Given the description of an element on the screen output the (x, y) to click on. 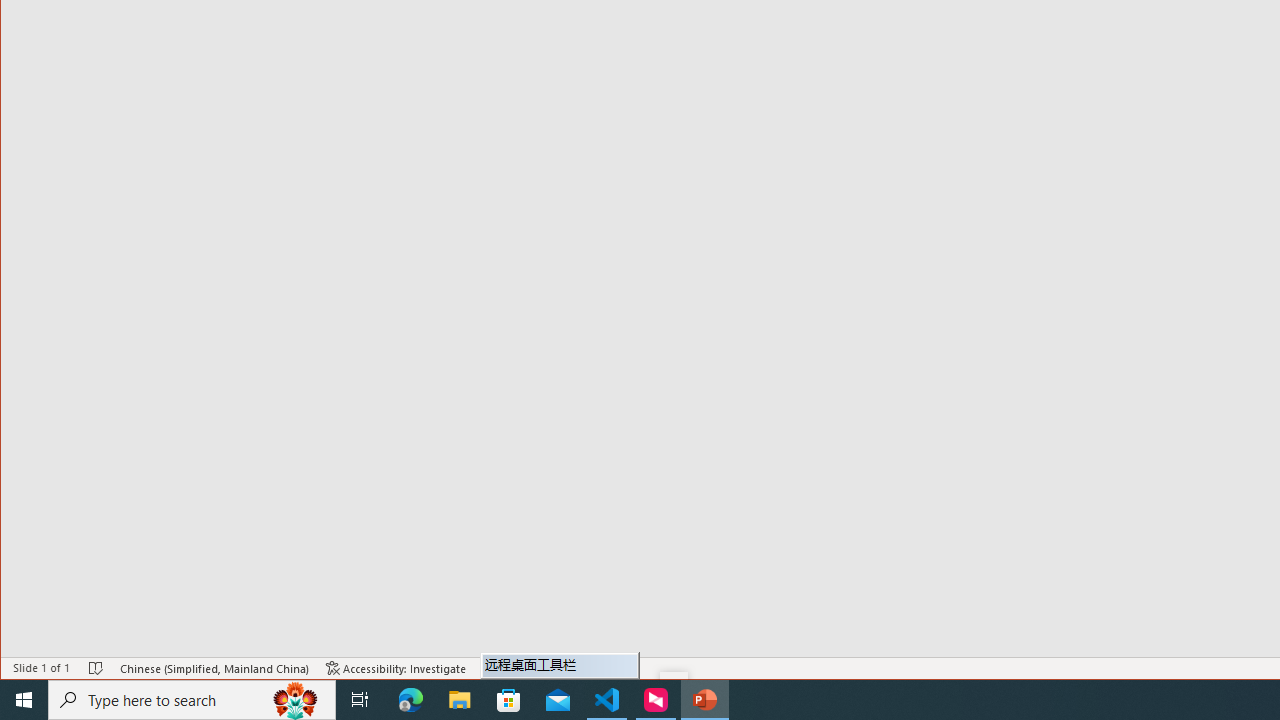
Microsoft Edge (411, 699)
